Given the description of an element on the screen output the (x, y) to click on. 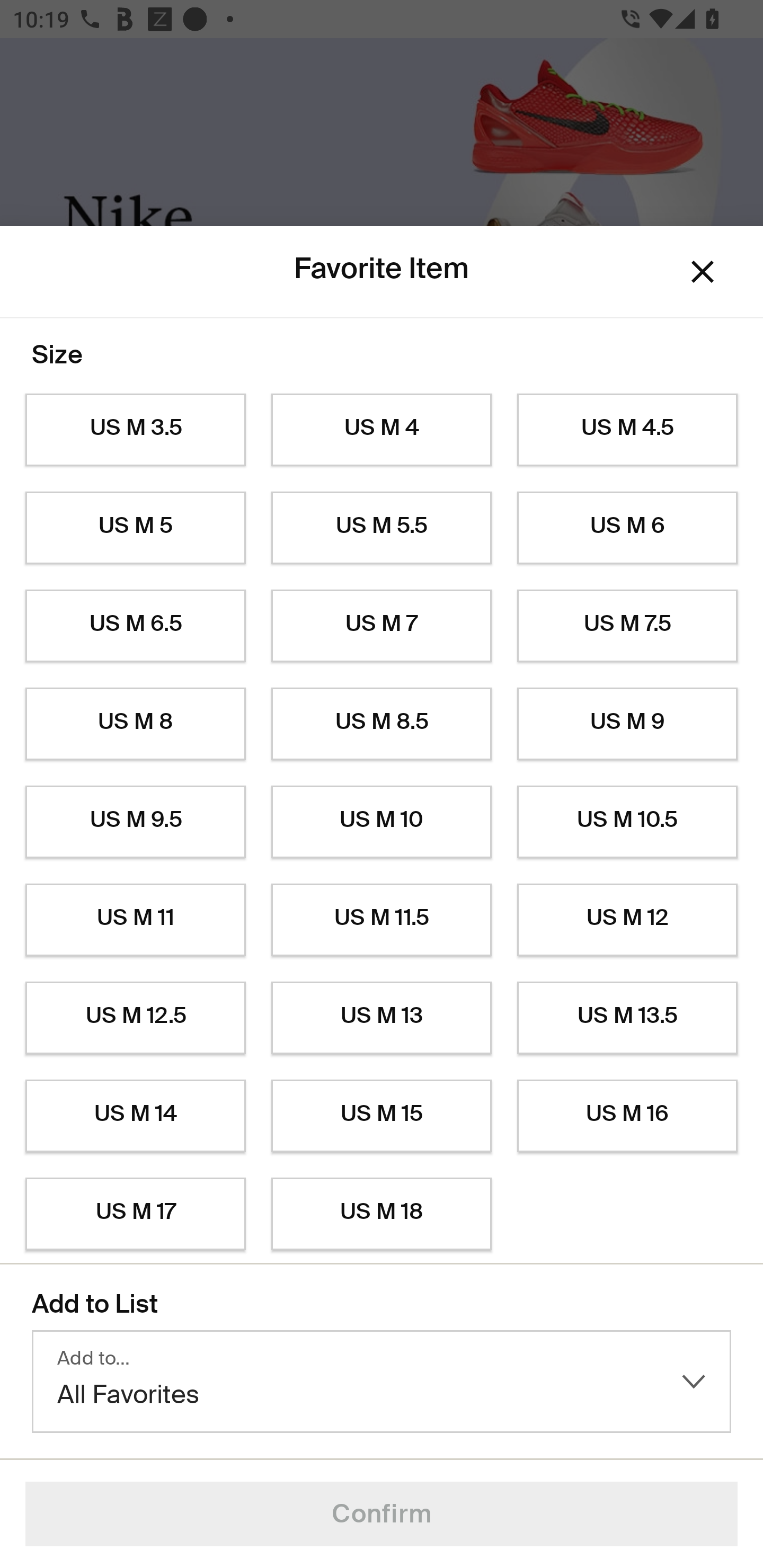
Dismiss (702, 271)
US M 3.5 (135, 430)
US M 4 (381, 430)
US M 4.5 (627, 430)
US M 5 (135, 527)
US M 5.5 (381, 527)
US M 6 (627, 527)
US M 6.5 (135, 626)
US M 7 (381, 626)
US M 7.5 (627, 626)
US M 8 (135, 724)
US M 8.5 (381, 724)
US M 9 (627, 724)
US M 9.5 (135, 822)
US M 10 (381, 822)
US M 10.5 (627, 822)
US M 11 (135, 919)
US M 11.5 (381, 919)
US M 12 (627, 919)
US M 12.5 (135, 1018)
US M 13 (381, 1018)
US M 13.5 (627, 1018)
US M 14 (135, 1116)
US M 15 (381, 1116)
US M 16 (627, 1116)
US M 17 (135, 1214)
US M 18 (381, 1214)
Add to… All Favorites (381, 1381)
Confirm (381, 1513)
